Given the description of an element on the screen output the (x, y) to click on. 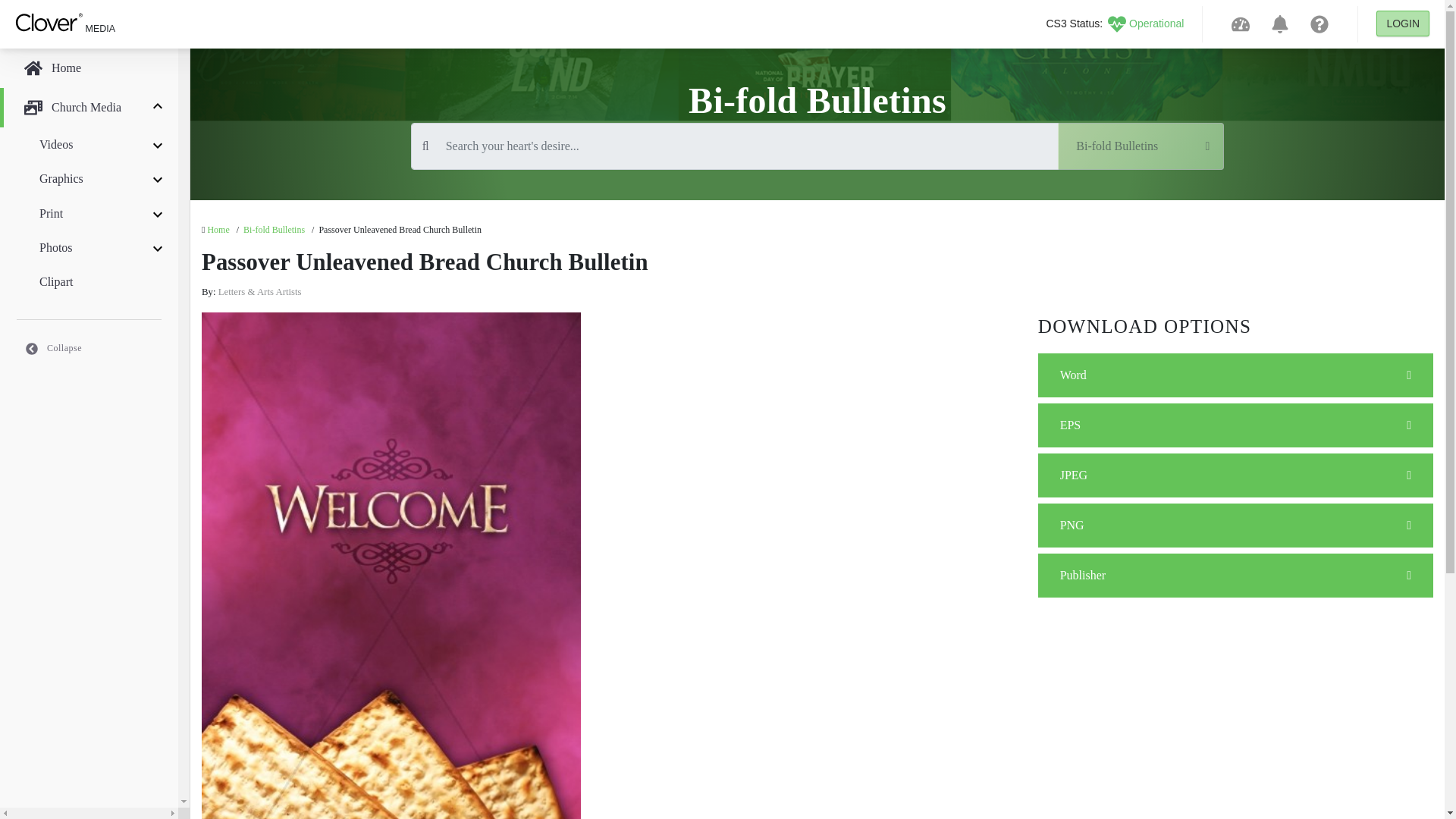
Collapse (88, 347)
LOGIN (1402, 23)
CS3 Status: Operational (1114, 23)
Videos (88, 144)
Clipart (88, 281)
Purchase (1235, 475)
Graphics (88, 178)
Bi-fold Bulletins (1141, 145)
Church Media (88, 107)
Purchase (1235, 575)
